Given the description of an element on the screen output the (x, y) to click on. 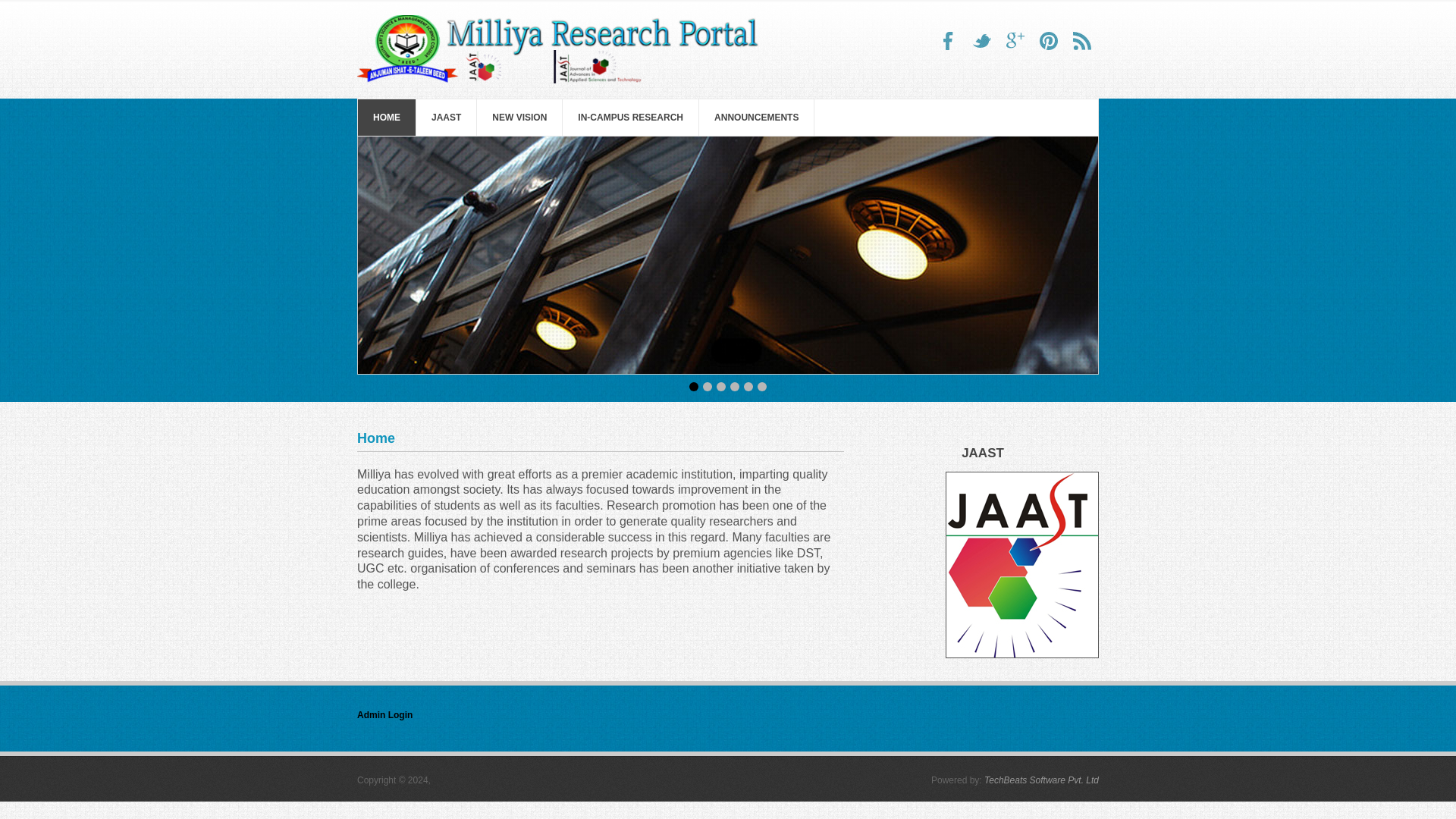
2 (707, 386)
 in Pinterest (1048, 40)
Twitter (981, 40)
IN-CAMPUS RESEARCH (630, 117)
RSS (1081, 40)
JAAST (446, 117)
1 (693, 386)
Admin Login (384, 715)
 in Facebook (948, 40)
 in RSS (1081, 40)
3 (762, 386)
3 (720, 386)
TechBeats Software Pvt. Ltd (1041, 779)
Twitter (1048, 40)
